Given the description of an element on the screen output the (x, y) to click on. 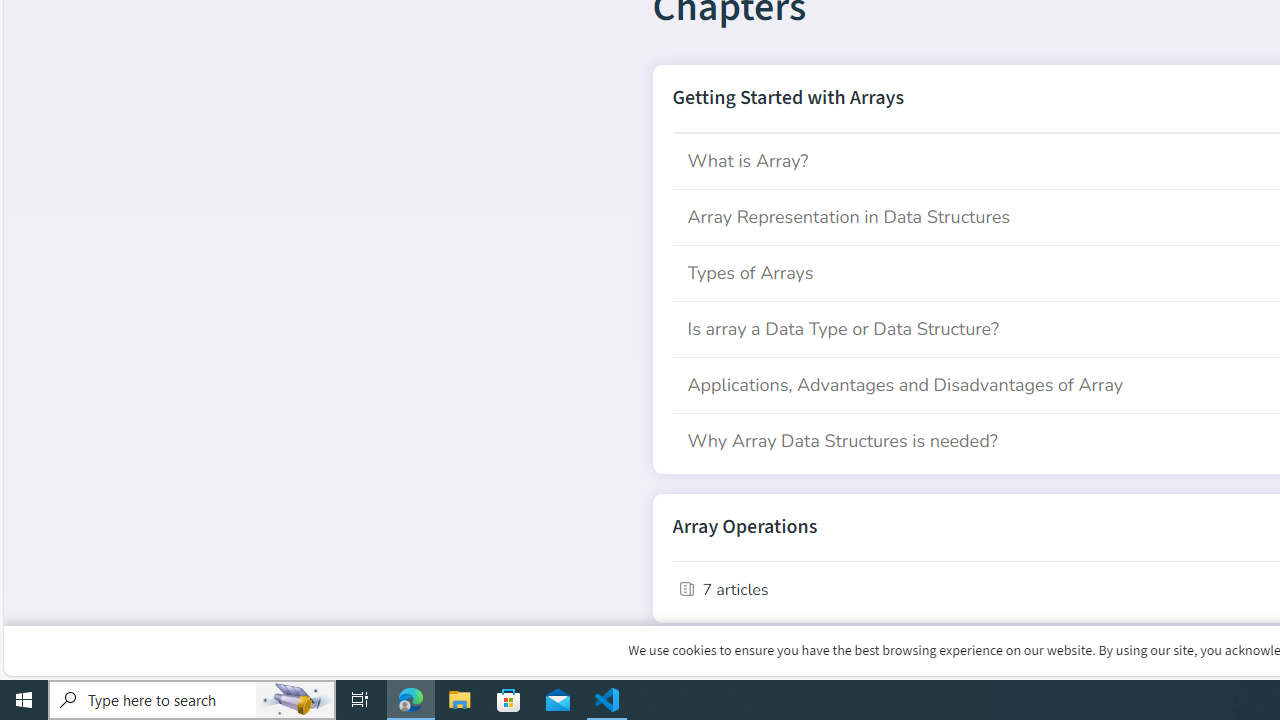
Lightbox (1272, 13)
